Given the description of an element on the screen output the (x, y) to click on. 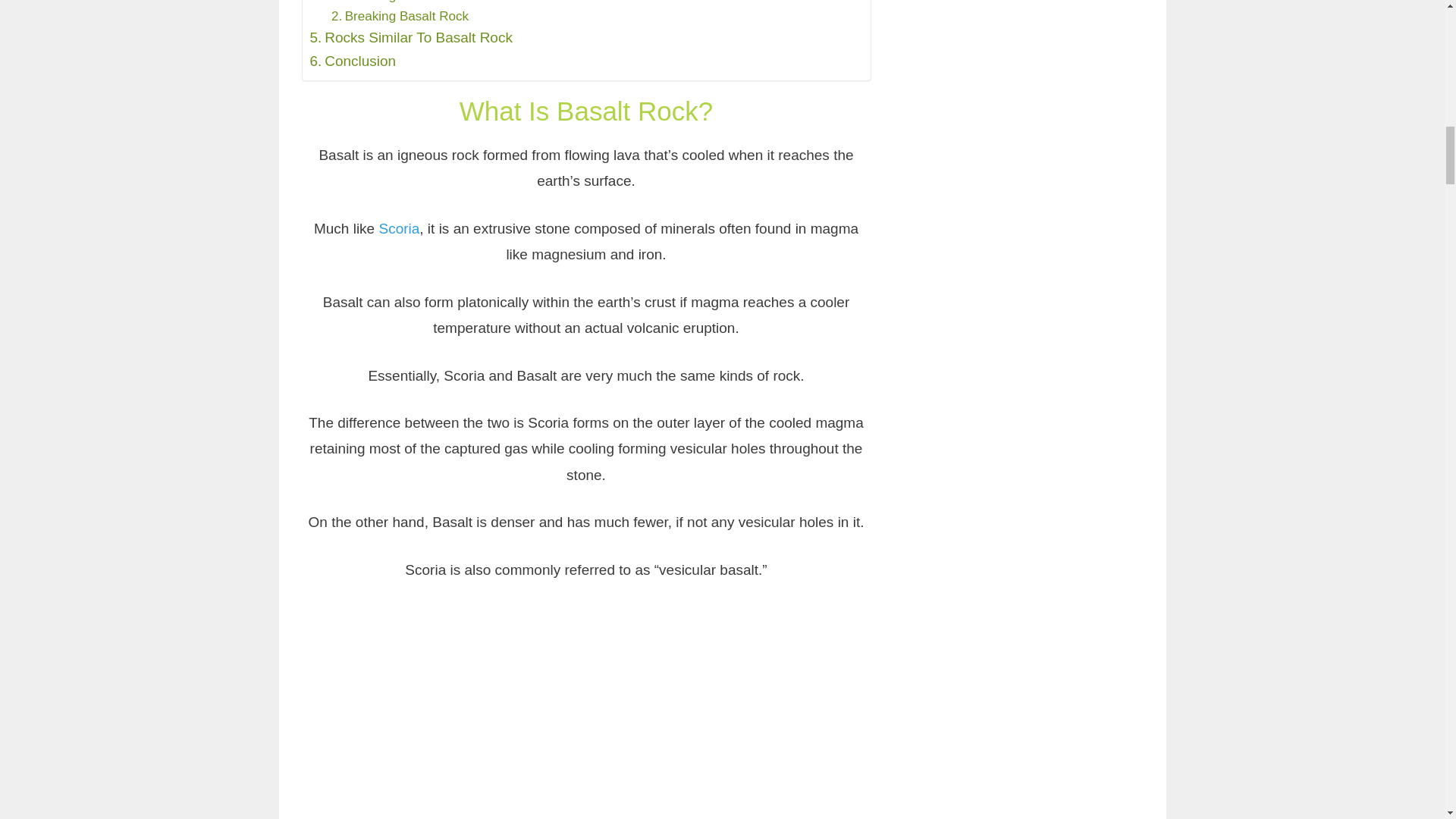
Cleaning Basalt Rock (399, 2)
Rocks Similar To Basalt Rock (410, 37)
Cleaning Basalt Rock (399, 2)
Conclusion (352, 60)
Rocks Similar To Basalt Rock (410, 37)
Conclusion (352, 60)
Breaking Basalt Rock (399, 15)
Breaking Basalt Rock (399, 15)
